Given the description of an element on the screen output the (x, y) to click on. 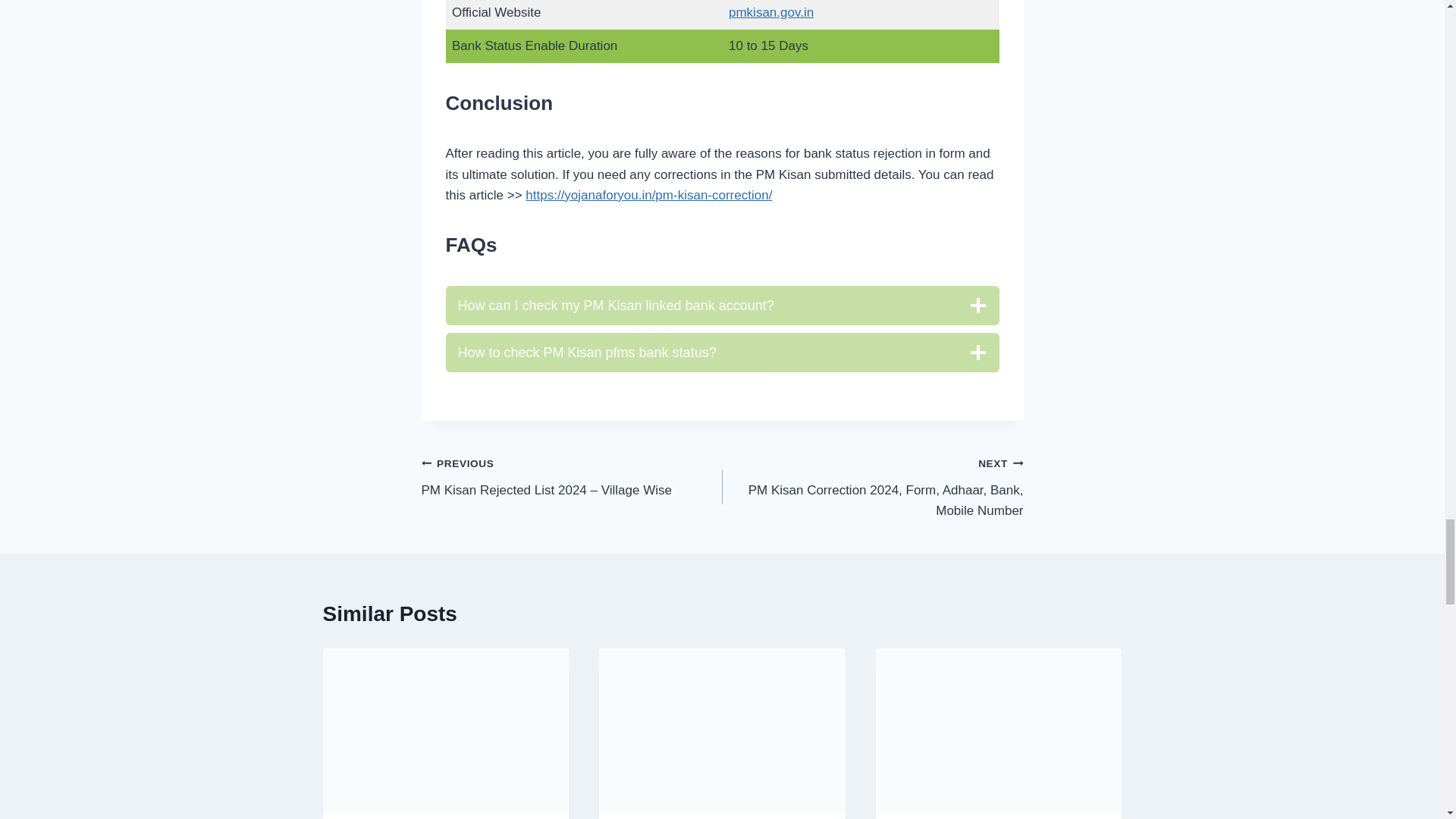
pmkisan.gov.in (771, 11)
How to check PM Kisan pfms bank status? (721, 352)
How can I check my PM Kisan linked bank account? (721, 305)
